Given the description of an element on the screen output the (x, y) to click on. 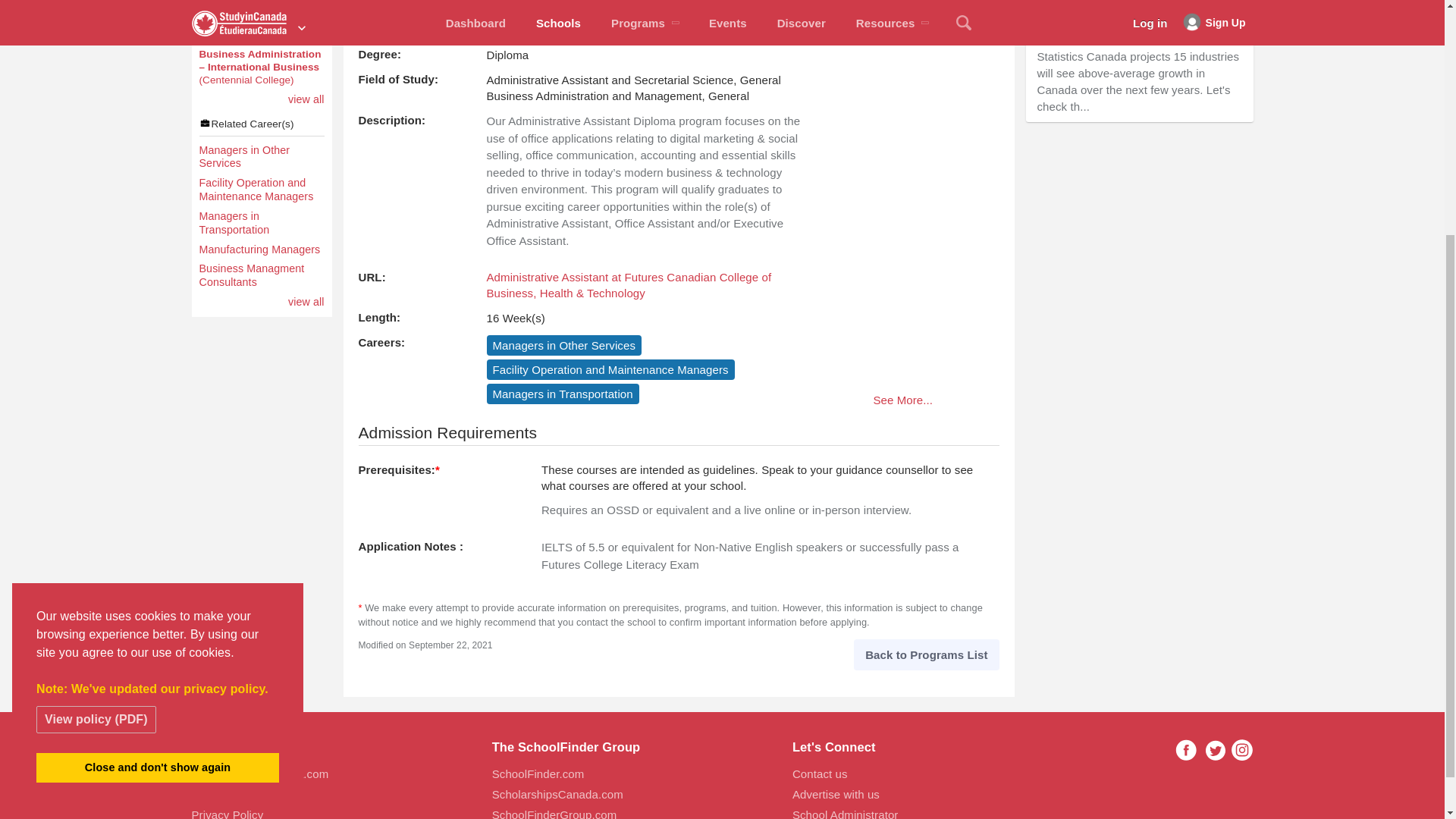
Managers in Transportation (260, 223)
view all (306, 100)
view all (306, 302)
Advertisement (1138, 227)
Facility Operation and Maintenance Managers (260, 189)
Managers in Other Services (260, 157)
Close and don't show again (157, 428)
Business Managment Consultants (260, 275)
Manufacturing Managers (260, 250)
